Given the description of an element on the screen output the (x, y) to click on. 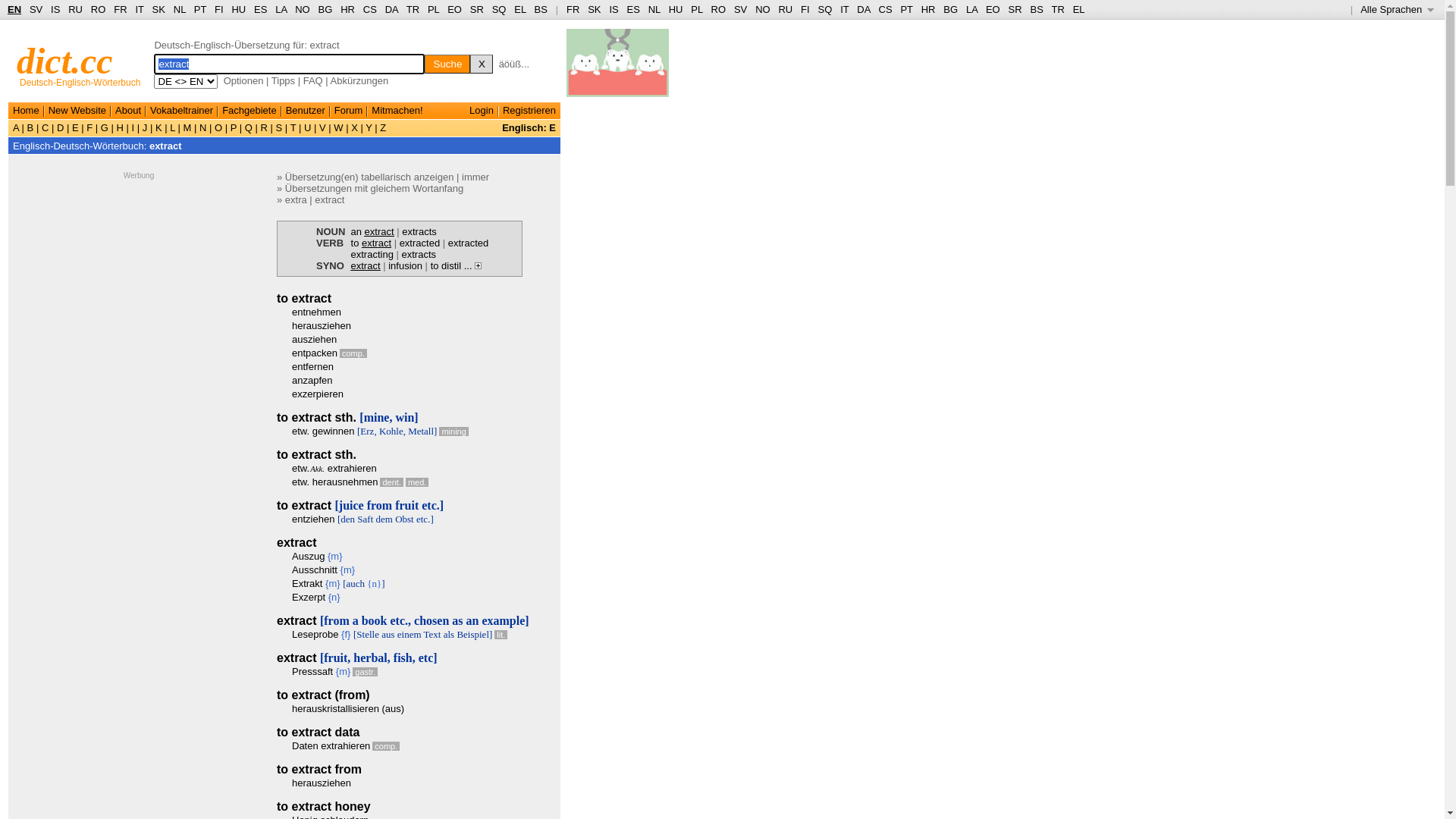
Englisch: E Element type: text (528, 127)
FR Element type: text (572, 9)
to extract data Element type: text (317, 731)
herauskristallisieren (aus) Element type: text (347, 708)
RO Element type: text (98, 9)
to distil Element type: text (445, 265)
X Element type: text (481, 63)
SQ Element type: text (499, 9)
M Element type: text (187, 127)
EO Element type: text (992, 9)
CS Element type: text (884, 9)
EL Element type: text (519, 9)
entnehmen Element type: text (316, 311)
RU Element type: text (785, 9)
to extract from Element type: text (318, 768)
I Element type: text (132, 127)
FI Element type: text (218, 9)
Z Element type: text (381, 127)
etw. herausnehmen Element type: text (334, 481)
entpacken Element type: text (314, 352)
gastr. Element type: text (364, 671)
dict.cc Element type: text (64, 60)
dental cartoon vector  tooth... Element type: hover (617, 68)
Suche Element type: text (447, 63)
NL Element type: text (179, 9)
extracted Element type: text (419, 242)
etw. gewinnen [Erz, Kohle, Metall] Element type: text (363, 430)
to extract Element type: text (303, 297)
FR Element type: text (119, 9)
BG Element type: text (325, 9)
LA Element type: text (280, 9)
to extract sth. [mine, win] Element type: text (347, 417)
About Element type: text (128, 110)
...  Element type: text (472, 265)
Registrieren Element type: text (528, 110)
IT Element type: text (138, 9)
herausziehen Element type: text (321, 325)
V Element type: text (322, 127)
FI Element type: text (804, 9)
comp. Element type: text (353, 352)
J Element type: text (144, 127)
Vokabeltrainer Element type: text (181, 110)
anzapfen Element type: text (311, 379)
N Element type: text (202, 127)
BS Element type: text (540, 9)
FAQ Element type: text (313, 80)
HR Element type: text (928, 9)
B Element type: text (30, 127)
SQ Element type: text (824, 9)
Mitmachen! Element type: text (396, 110)
IT Element type: text (844, 9)
Benutzer Element type: text (305, 110)
H Element type: text (119, 127)
NO Element type: text (762, 9)
dent. Element type: text (390, 481)
Alle Sprachen  Element type: text (1397, 9)
ES Element type: text (633, 9)
TR Element type: text (412, 9)
SR Element type: text (1015, 9)
ES Element type: text (260, 9)
extract Element type: text (329, 199)
extracts Element type: text (418, 231)
EO Element type: text (454, 9)
herausziehen Element type: text (321, 782)
extra Element type: text (296, 199)
Login Element type: text (481, 110)
BS Element type: text (1035, 9)
to extract Element type: text (371, 242)
D Element type: text (59, 127)
extracts Element type: text (418, 254)
S Element type: text (279, 127)
extract Element type: text (365, 265)
Fachgebiete Element type: text (249, 110)
TR Element type: text (1057, 9)
Daten extrahieren Element type: text (330, 745)
PL Element type: text (696, 9)
EL Element type: text (1079, 9)
entfernen Element type: text (312, 366)
to extract [juice from fruit etc.] Element type: text (359, 504)
extract [from a book etc., chosen as an example] Element type: text (402, 620)
SK Element type: text (593, 9)
SR Element type: text (476, 9)
etw.Akk. extrahieren Element type: text (333, 467)
Home Element type: text (25, 110)
E Element type: text (75, 127)
T Element type: text (292, 127)
RU Element type: text (75, 9)
EN Element type: text (14, 9)
extract Element type: text (165, 144)
PT Element type: text (906, 9)
infusion Element type: text (405, 265)
CS Element type: text (369, 9)
ausziehen Element type: text (313, 339)
HU Element type: text (238, 9)
immer Element type: text (475, 176)
New Website Element type: text (77, 110)
an extract Element type: text (372, 231)
HU Element type: text (675, 9)
Tipps Element type: text (282, 80)
extract Element type: text (296, 542)
G Element type: text (103, 127)
to extract honey Element type: text (323, 806)
SK Element type: text (158, 9)
med. Element type: text (416, 481)
extract [fruit, herbal, fish, etc] Element type: text (356, 657)
IS Element type: text (54, 9)
SV Element type: text (35, 9)
to extract sth. Element type: text (316, 454)
Y Element type: text (368, 127)
DA Element type: text (862, 9)
to extract (from) Element type: text (323, 694)
RO Element type: text (718, 9)
X Element type: text (354, 127)
U Element type: text (307, 127)
comp. Element type: text (385, 745)
R Element type: text (263, 127)
HR Element type: text (347, 9)
PT Element type: text (200, 9)
extracting Element type: text (372, 254)
LA Element type: text (971, 9)
BG Element type: text (950, 9)
K Element type: text (158, 127)
Optionen Element type: text (243, 80)
PL Element type: text (433, 9)
exzerpieren Element type: text (317, 393)
NL Element type: text (654, 9)
F Element type: text (89, 127)
W Element type: text (338, 127)
SV Element type: text (740, 9)
Q Element type: text (247, 127)
C Element type: text (44, 127)
O Element type: text (217, 127)
lit. Element type: text (500, 634)
L Element type: text (172, 127)
entziehen [den Saft dem Obst etc.] Element type: text (362, 518)
DA Element type: text (391, 9)
mining Element type: text (453, 431)
extracted Element type: text (468, 242)
Forum Element type: text (348, 110)
P Element type: text (233, 127)
IS Element type: text (613, 9)
NO Element type: text (302, 9)
A Element type: text (16, 127)
